Given the description of an element on the screen output the (x, y) to click on. 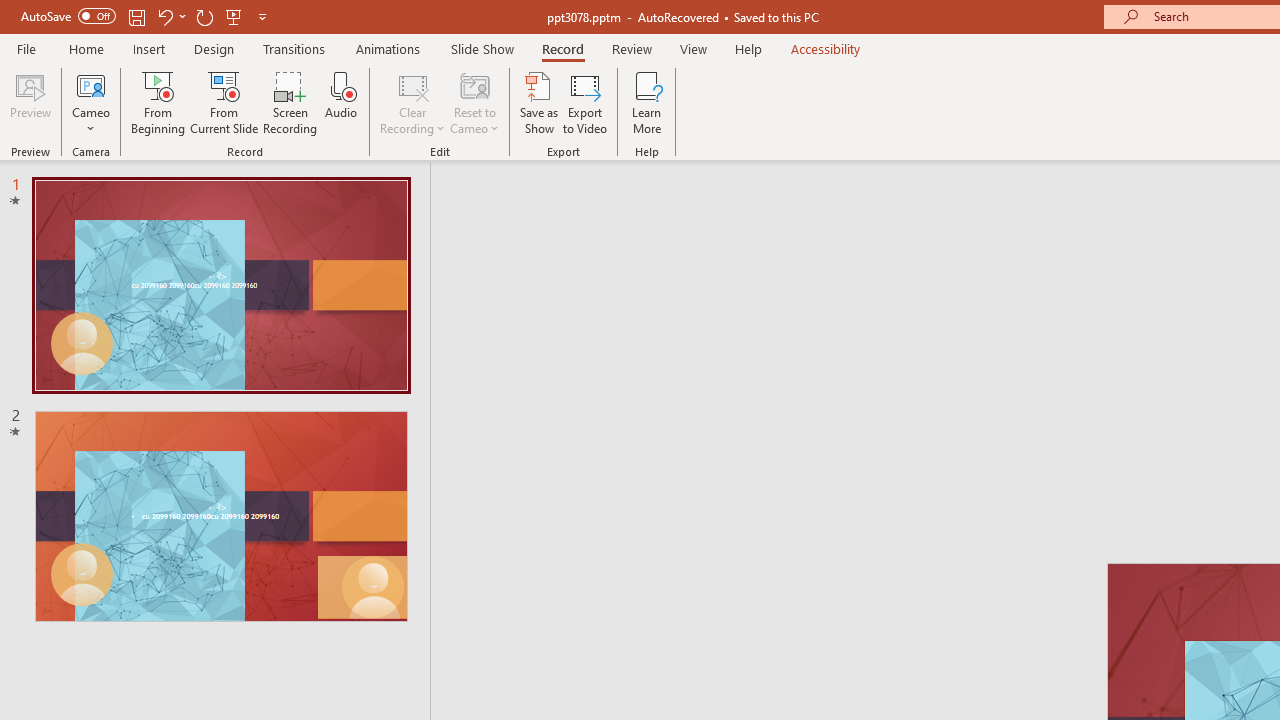
Audio (341, 102)
Learn More (646, 102)
From Beginning... (158, 102)
Save as Show (539, 102)
